Given the description of an element on the screen output the (x, y) to click on. 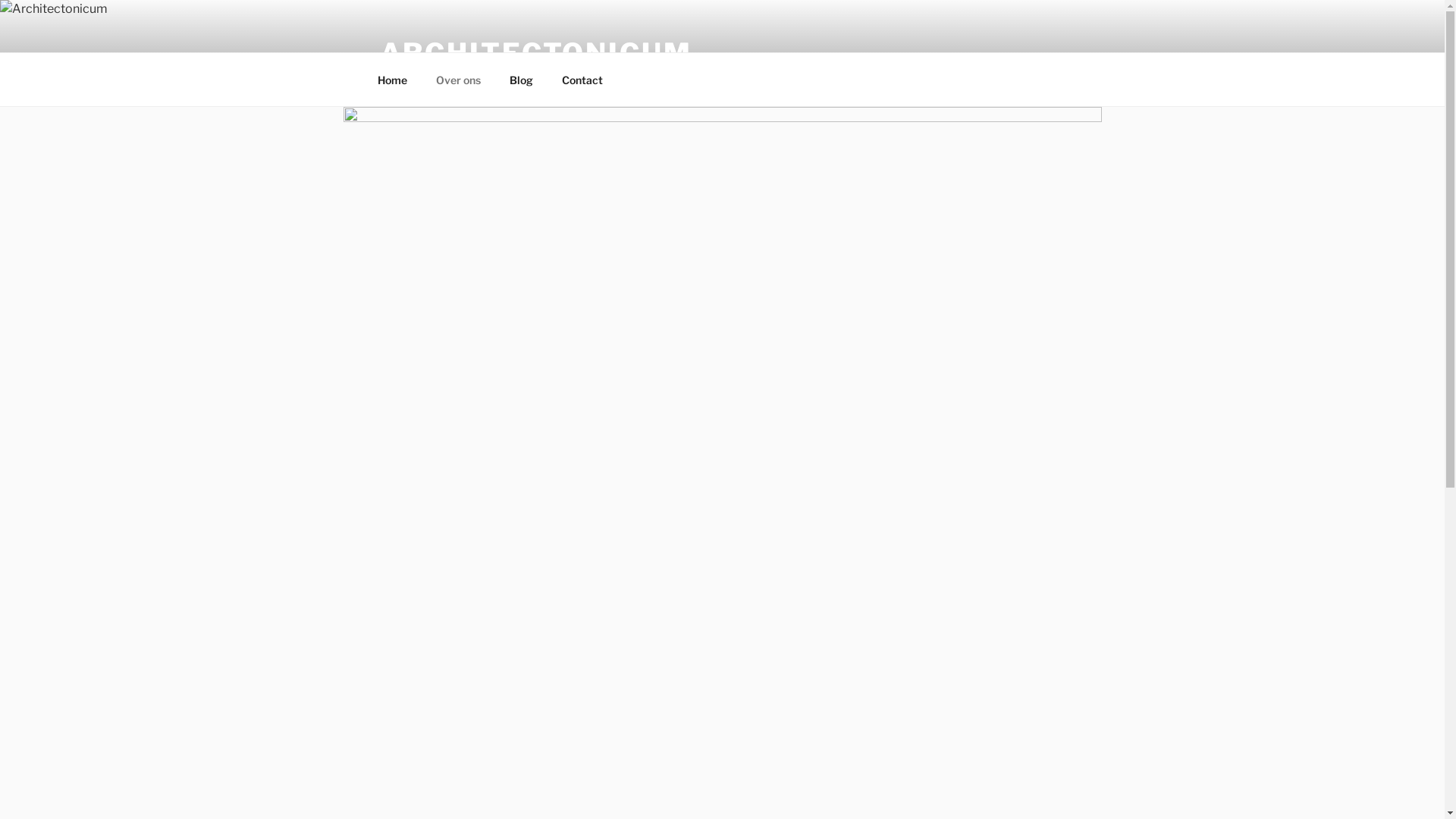
Contact Element type: text (582, 78)
Over ons Element type: text (458, 78)
Skip to content Element type: text (0, 0)
Home Element type: text (392, 78)
ARCHITECTONICUM Element type: text (535, 52)
Blog Element type: text (520, 78)
